Given the description of an element on the screen output the (x, y) to click on. 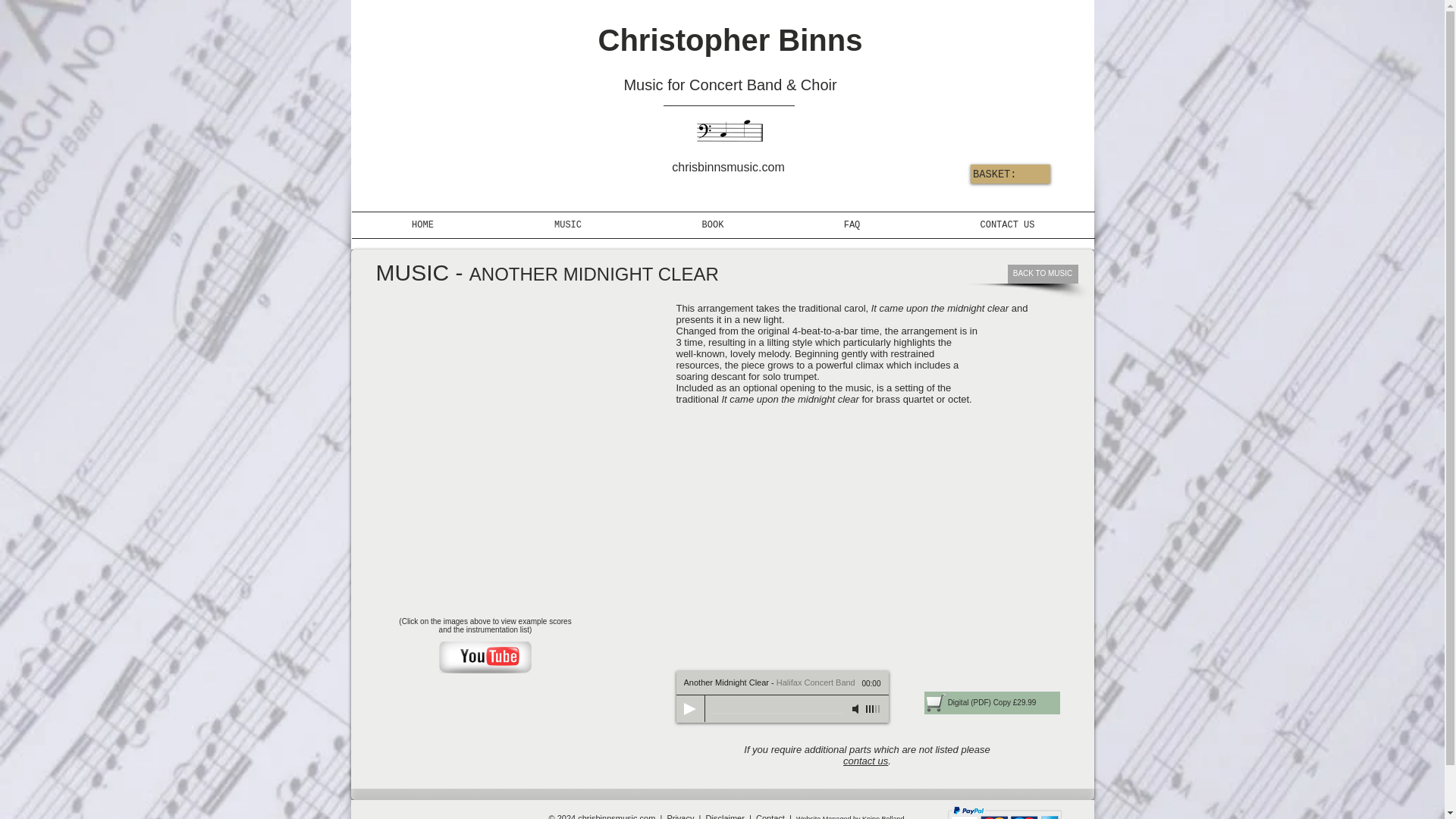
Disclaimer (725, 816)
MUSIC (568, 225)
BASKET: (1006, 173)
BACK TO MUSIC (1042, 273)
chrisbinnsmusic.com (729, 132)
BOOK (712, 225)
HOME (423, 225)
FAQ (852, 225)
CONTACT US (1007, 225)
BASKET: (1006, 173)
Knipe Bolland (882, 816)
0 (777, 709)
Contact (769, 816)
Privacy (680, 816)
contact us (865, 760)
